Given the description of an element on the screen output the (x, y) to click on. 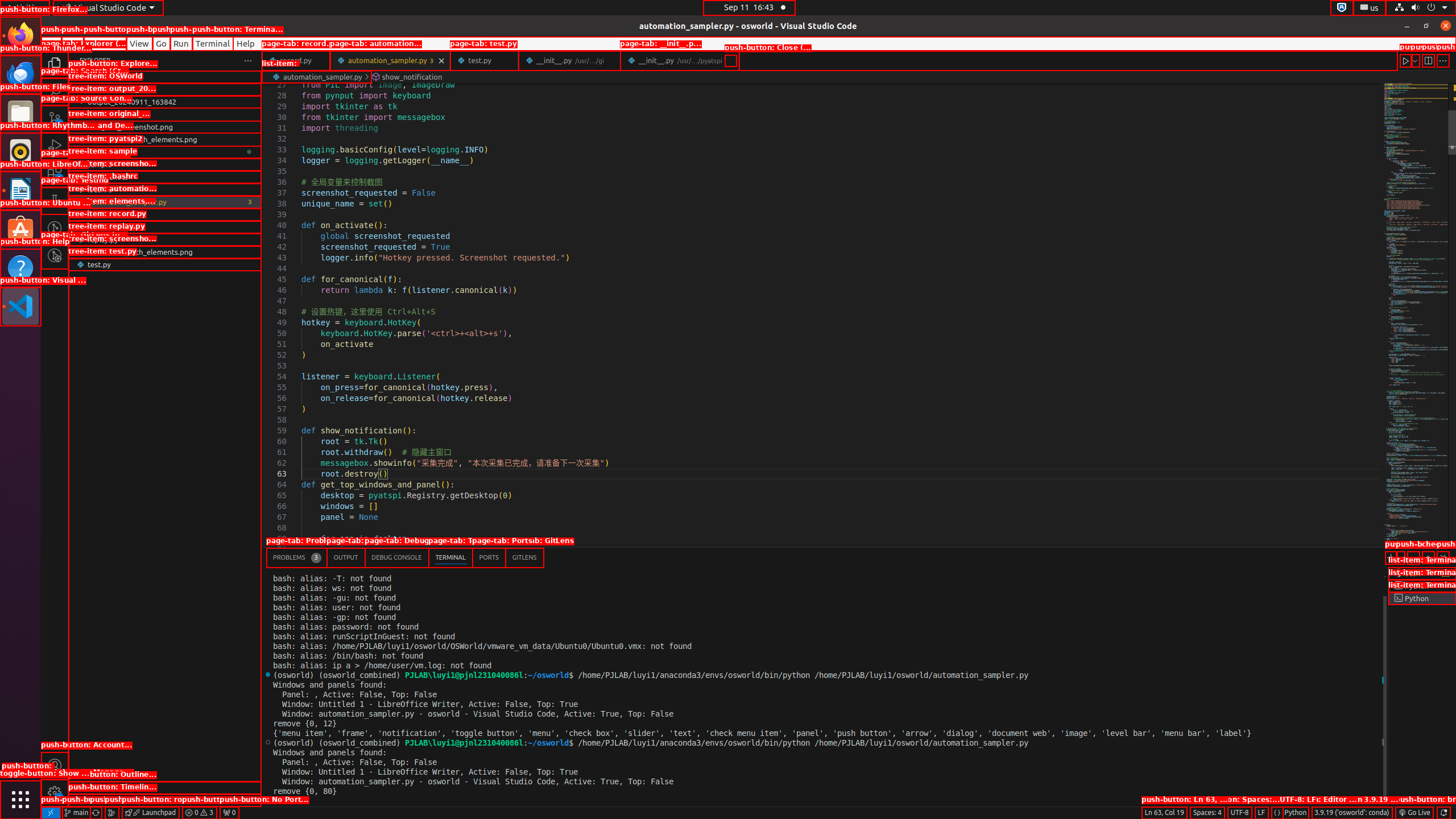
Run Element type: push-button (181, 43)
test.py Element type: tree-item (164, 264)
Problems (Ctrl+Shift+M) - Total 3 Problems Element type: page-tab (296, 557)
Selection Element type: push-button (104, 43)
screenshots Element type: tree-item (164, 176)
